Given the description of an element on the screen output the (x, y) to click on. 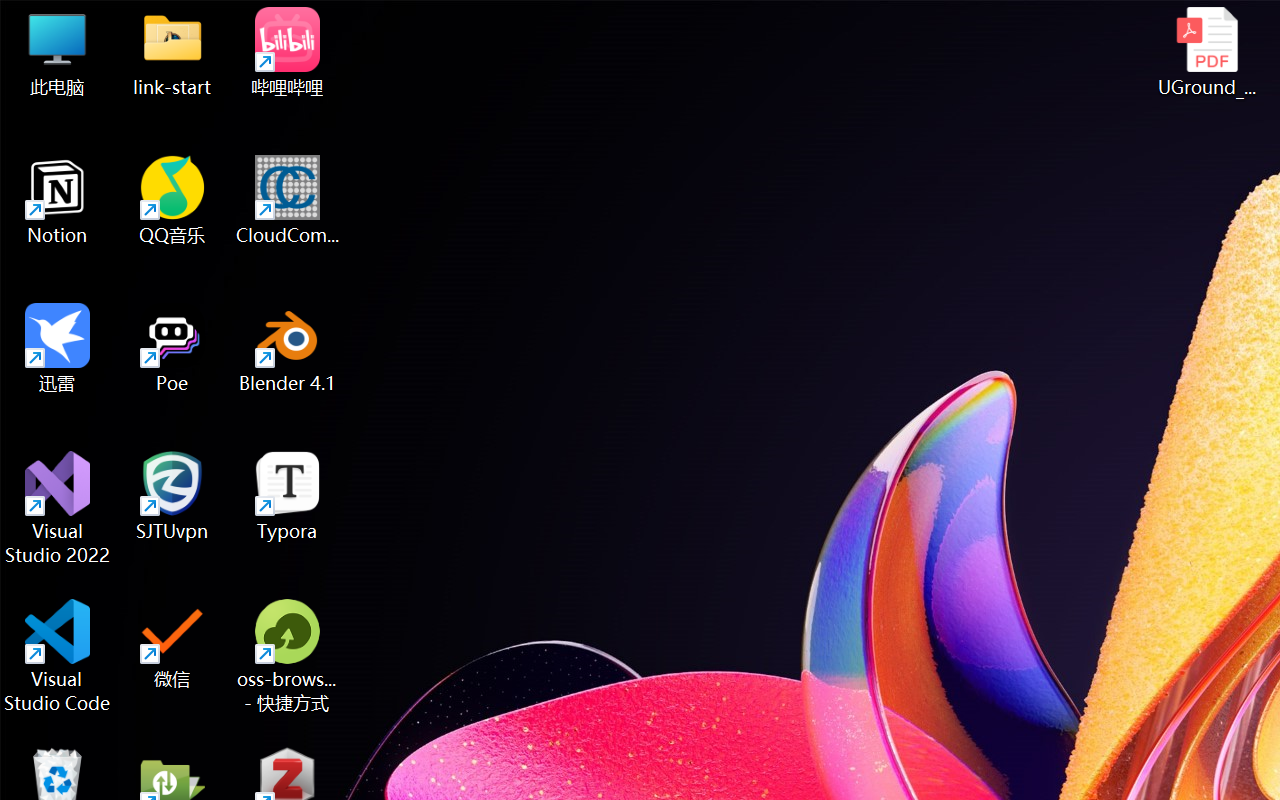
Visual Studio 2022 (57, 508)
CloudCompare (287, 200)
Blender 4.1 (287, 348)
Poe (172, 348)
Notion (57, 200)
Visual Studio Code (57, 656)
SJTUvpn (172, 496)
Typora (287, 496)
UGround_paper.pdf (1206, 52)
